Given the description of an element on the screen output the (x, y) to click on. 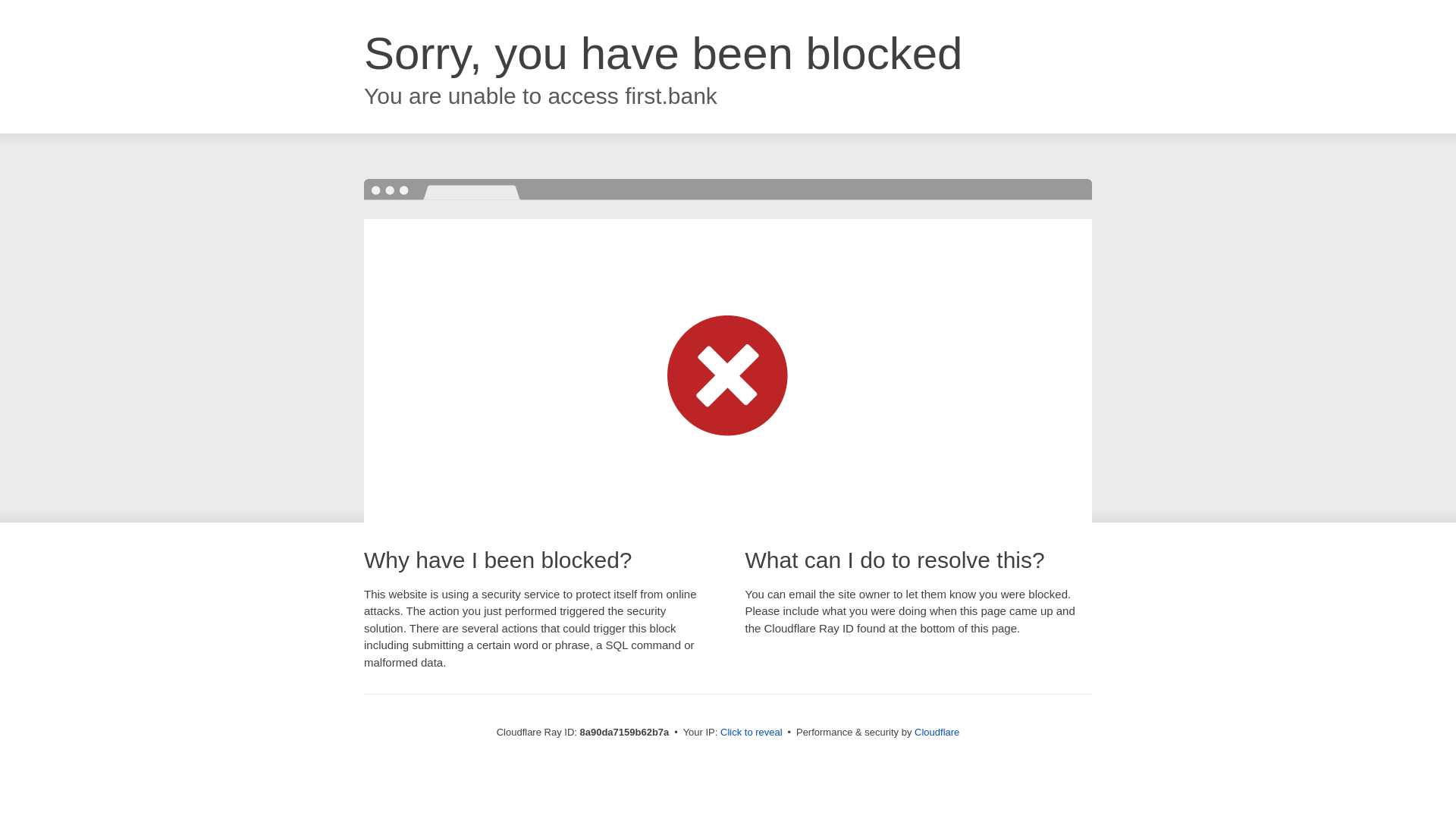
Click to reveal (751, 732)
Cloudflare (936, 731)
